Given the description of an element on the screen output the (x, y) to click on. 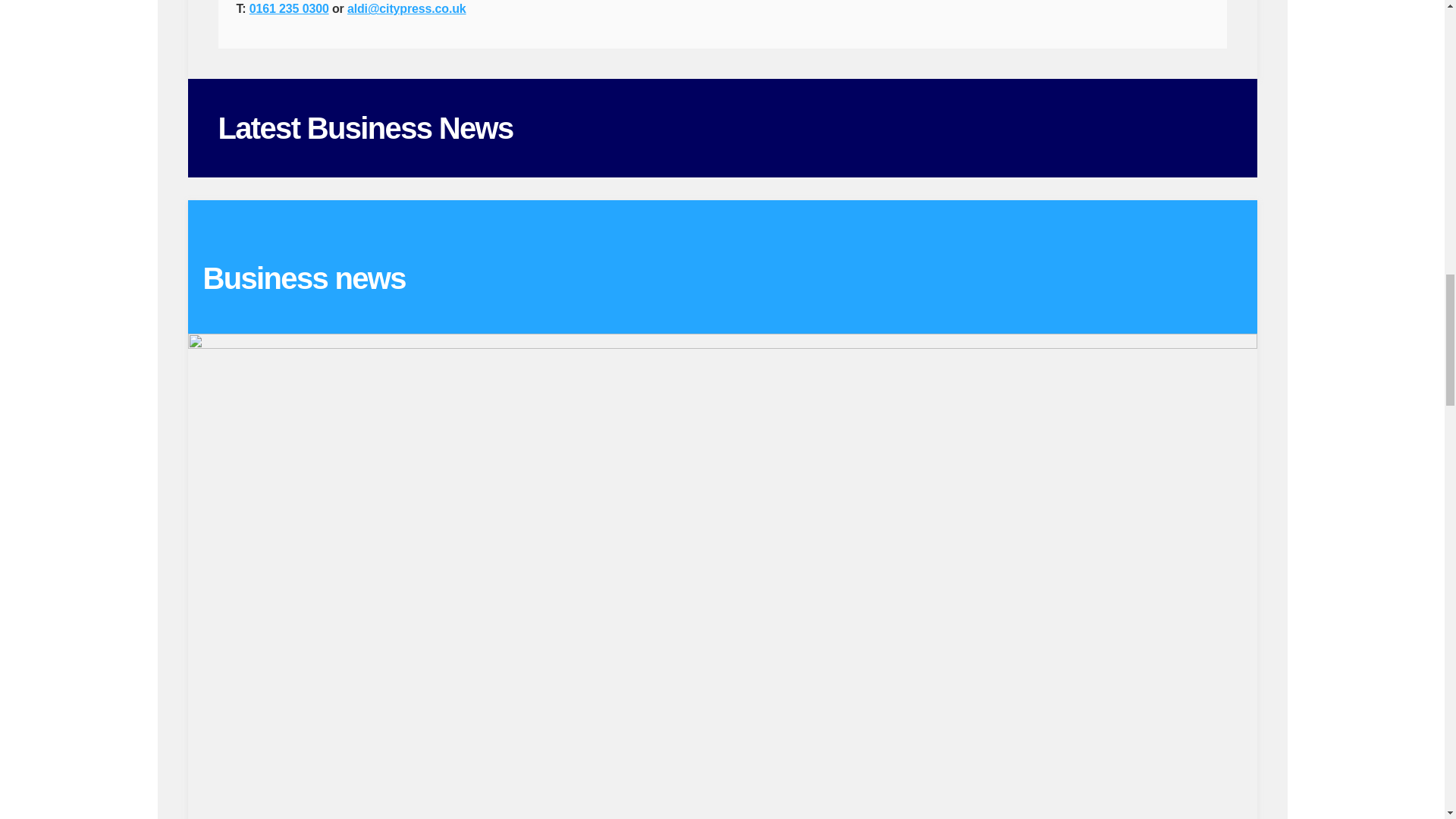
0161 235 0300 (288, 8)
